Given the description of an element on the screen output the (x, y) to click on. 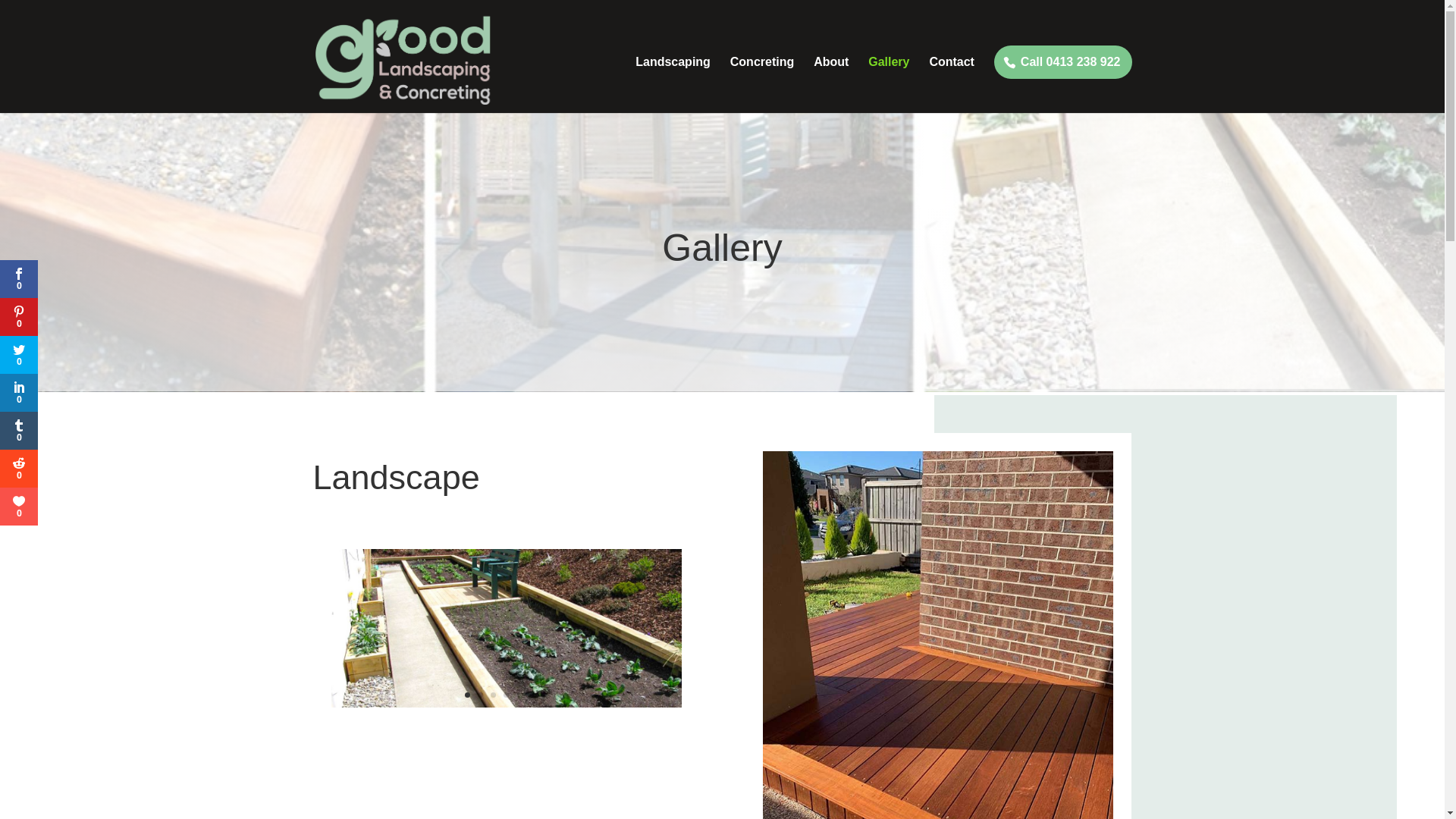
garden design services and construction Element type: hover (505, 703)
Concreting Element type: text (761, 84)
1 Element type: text (467, 694)
0 Element type: text (18, 468)
Call 0413 238 922 Element type: text (1063, 61)
0 Element type: text (18, 430)
0 Element type: text (18, 354)
6 Element type: text (531, 694)
Gallery Element type: text (888, 84)
3 Element type: text (492, 694)
About Element type: text (830, 84)
0 Element type: text (18, 279)
0 Element type: text (18, 316)
Contact Element type: text (951, 84)
2 Element type: text (480, 694)
Landscaping Element type: text (672, 84)
7 Element type: text (544, 694)
4 Element type: text (505, 694)
0 Element type: text (18, 506)
5 Element type: text (518, 694)
0 Element type: text (18, 392)
